Given the description of an element on the screen output the (x, y) to click on. 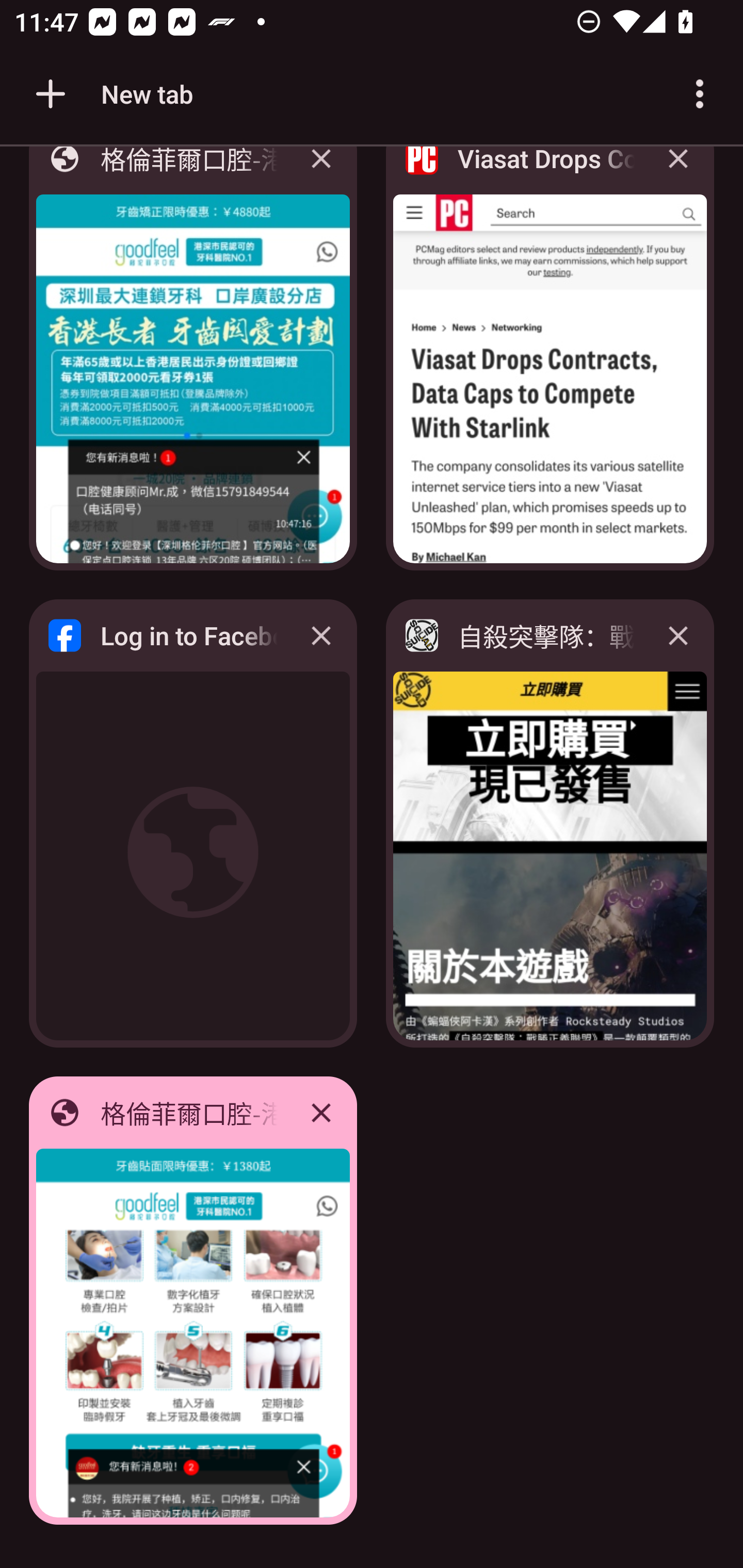
New tab (111, 93)
Customize and control Google Chrome (699, 93)
Close 格倫菲爾口腔-港深市民認可的牙科醫院NO.1 tab (320, 173)
Close Log in to Facebook | Facebook tab (320, 635)
Close 自殺突擊隊：戰勝正義聯盟 - 首頁 tab (677, 635)
Close 格倫菲爾口腔-港深市民認可的牙科醫院NO.1 tab (320, 1112)
